Given the description of an element on the screen output the (x, y) to click on. 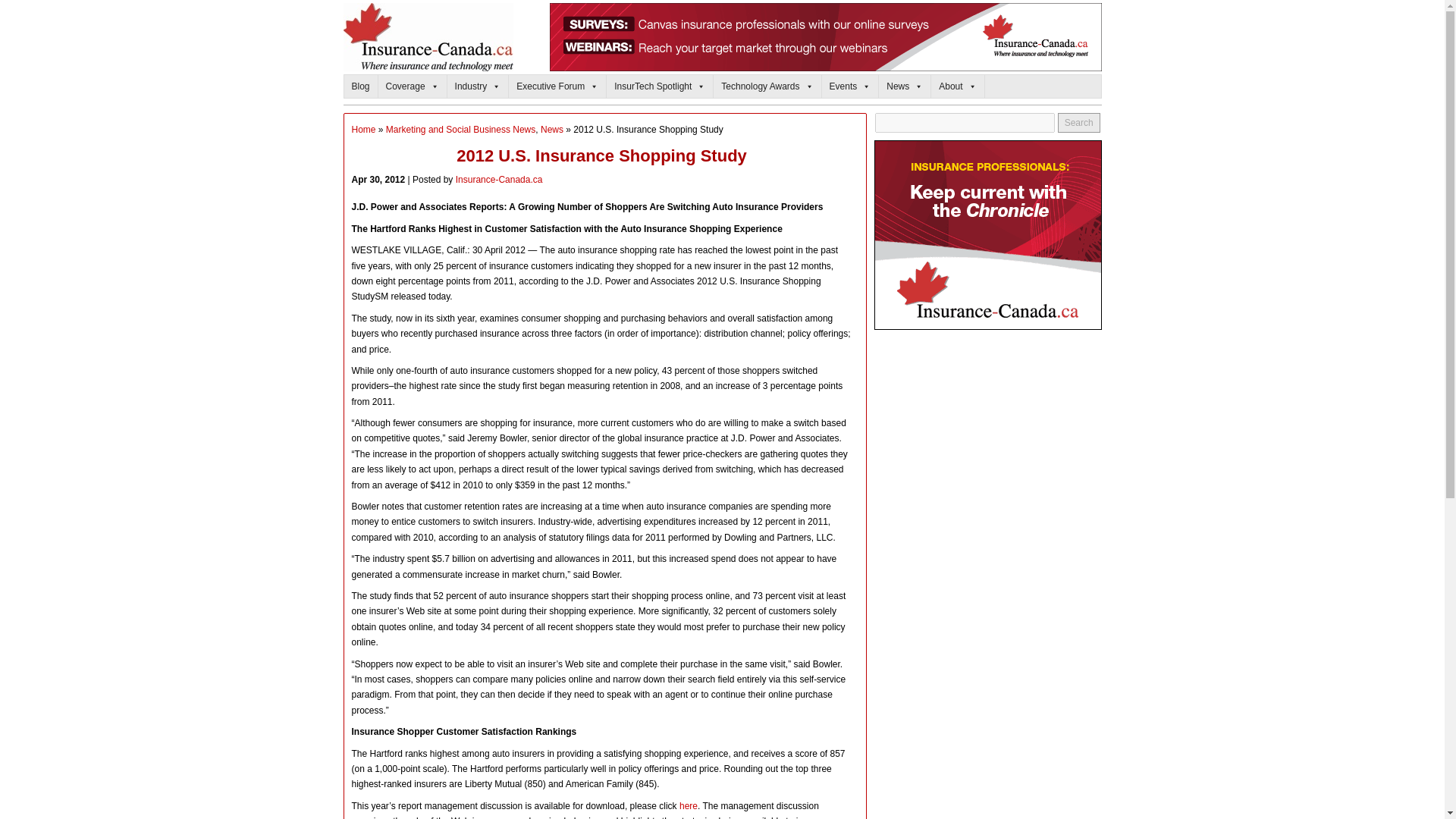
Coverage (412, 86)
Search (1079, 122)
Insurance-Canada.ca (363, 129)
Blog (360, 86)
